Given the description of an element on the screen output the (x, y) to click on. 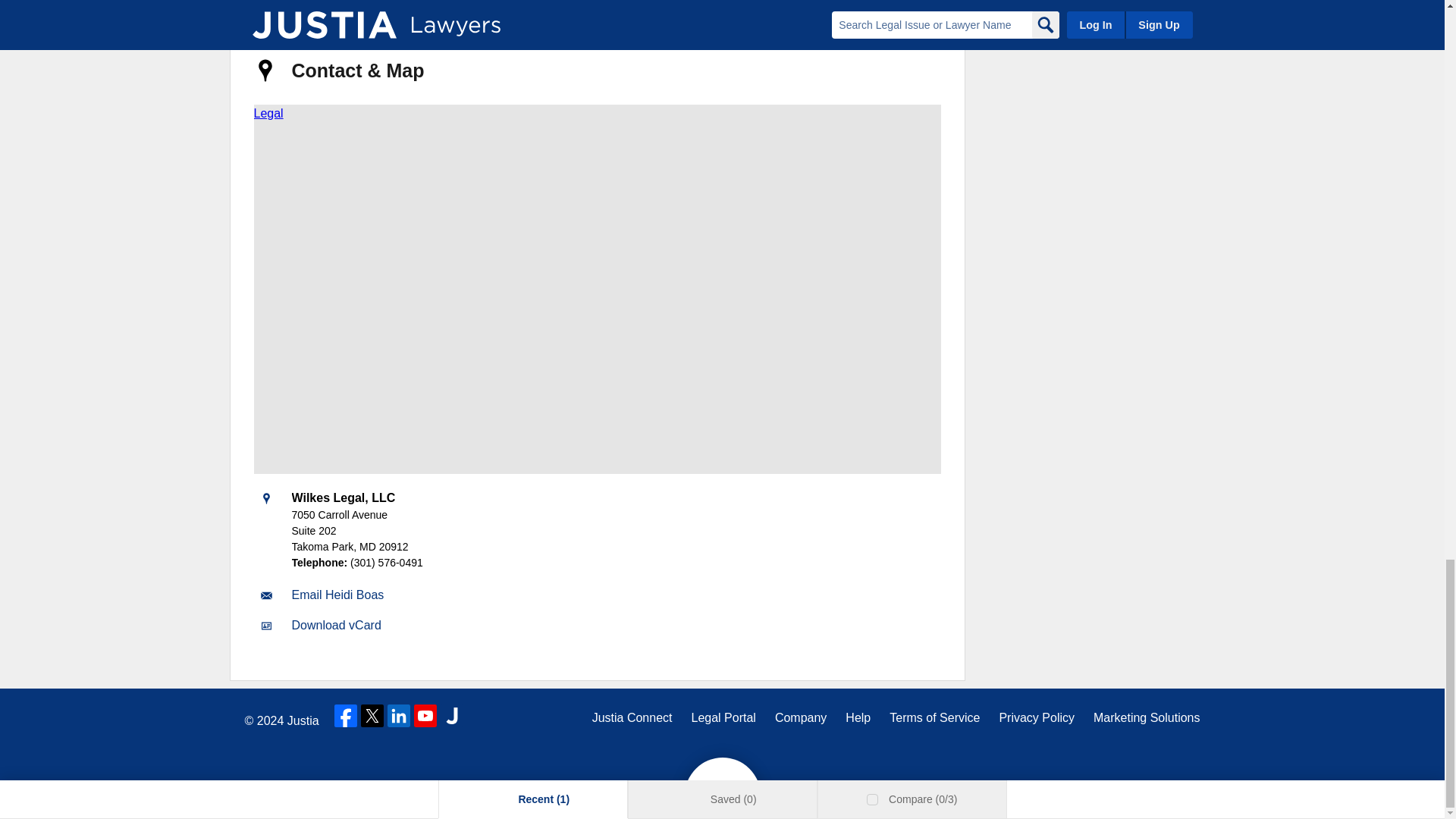
Email Heidi Boas (337, 594)
Download vCard (335, 625)
